Given the description of an element on the screen output the (x, y) to click on. 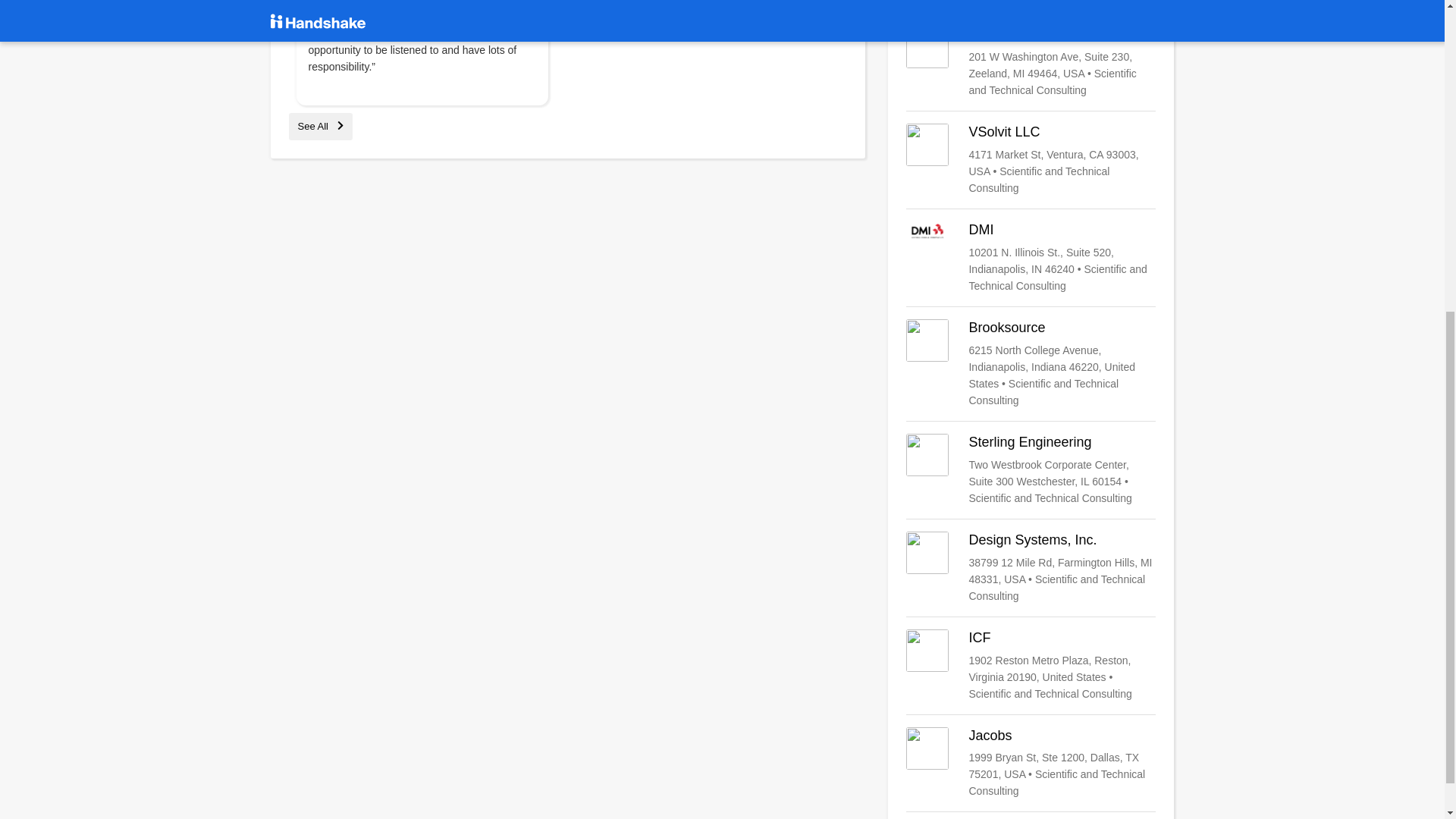
Jacobs (1030, 763)
Sterling Engineering (1030, 470)
ICF (1030, 665)
Design Systems, Inc. (1030, 567)
VSolvit LLC (1030, 159)
See All (320, 125)
DISHER (1030, 61)
DMI (1030, 257)
Brooksource (1030, 363)
